Given the description of an element on the screen output the (x, y) to click on. 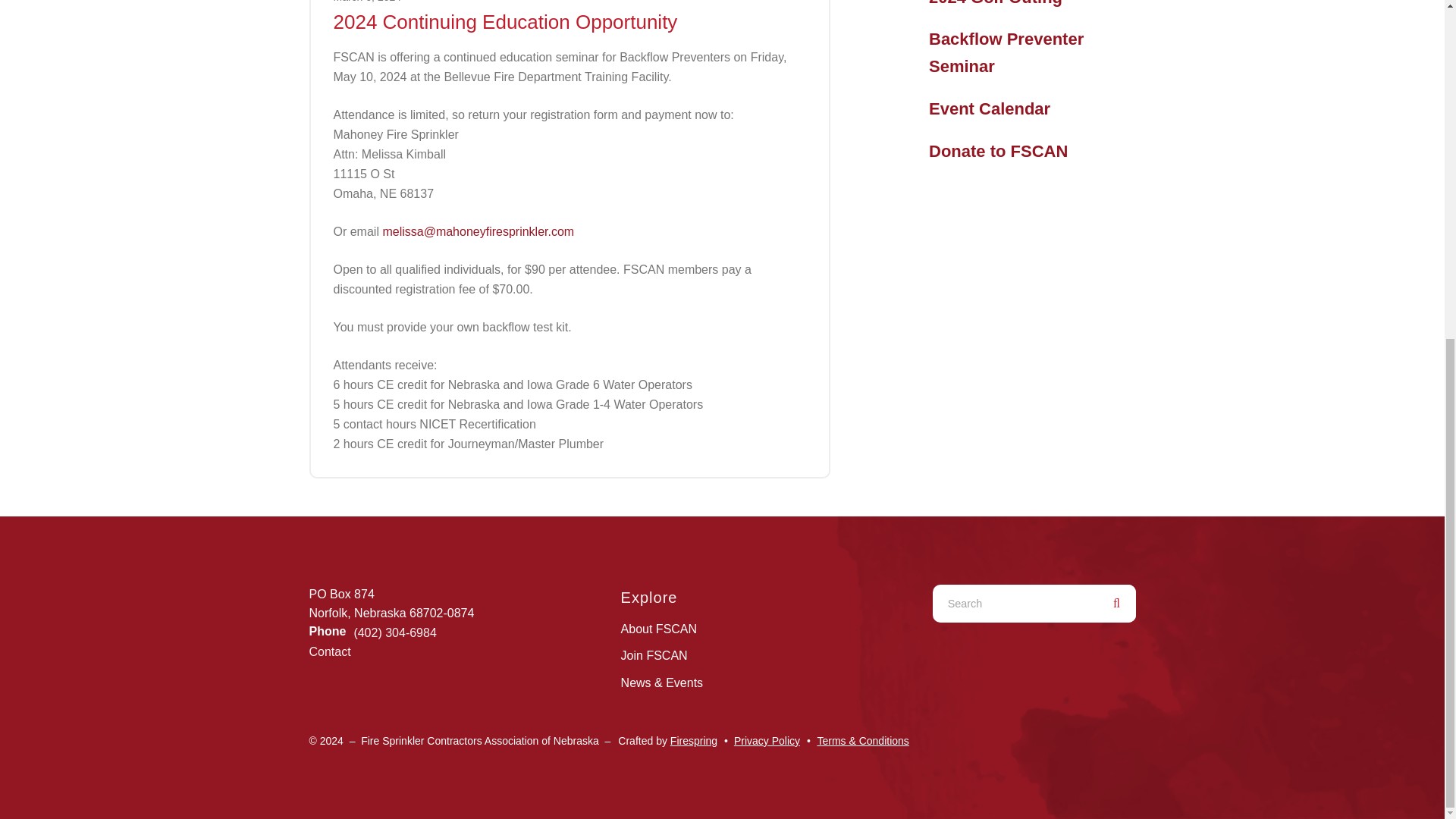
Backflow Preventer Seminar (1031, 52)
2024 Continuing Education Opportunity (505, 21)
Donate to FSCAN (997, 150)
search (1116, 603)
2024 Golf Outing (995, 5)
Event Calendar (988, 108)
Contact (329, 651)
Firespring (693, 740)
search (1116, 603)
Join FSCAN (654, 655)
